Given the description of an element on the screen output the (x, y) to click on. 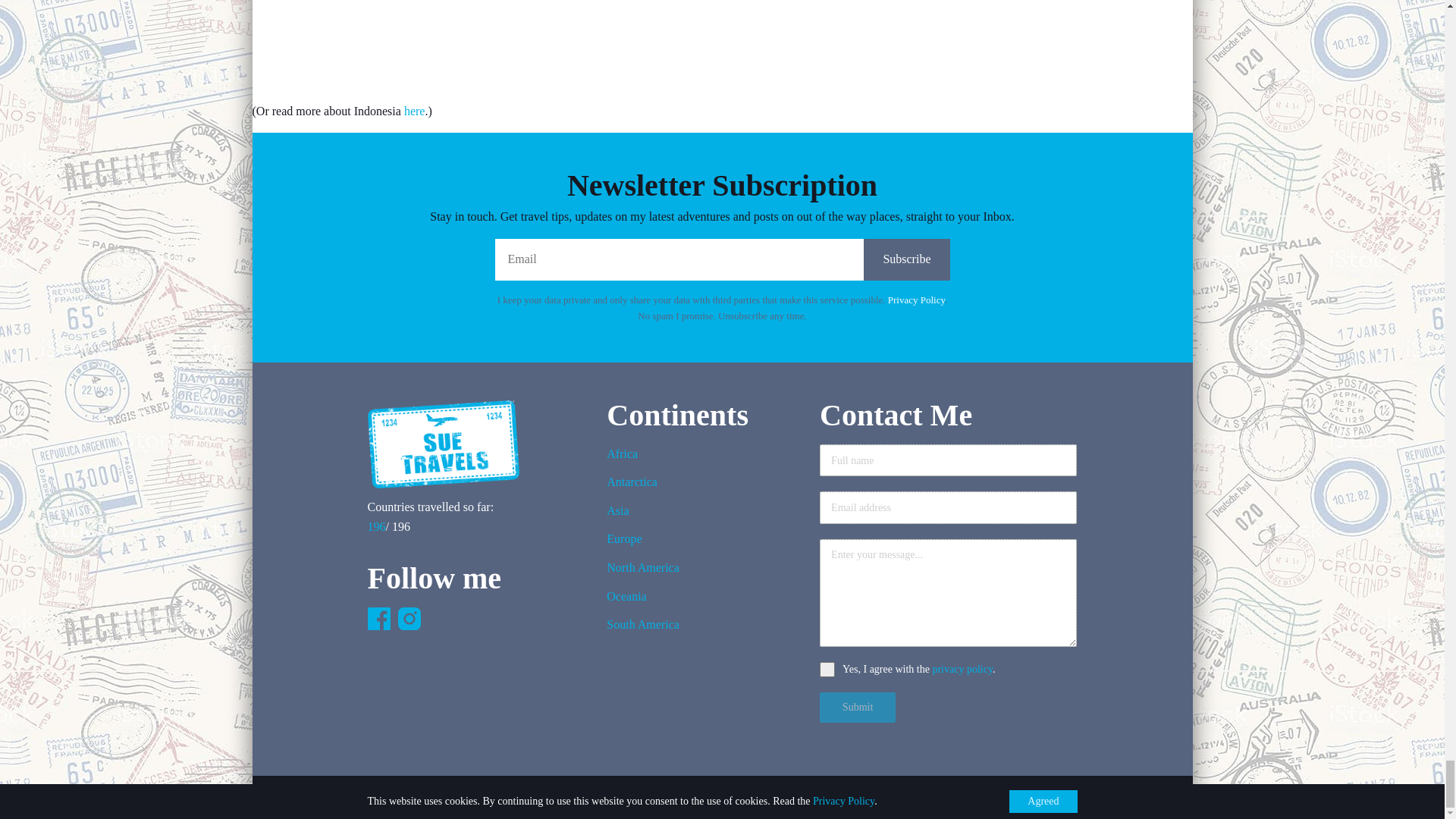
Asia (643, 515)
Submit (857, 707)
here (414, 110)
North America (643, 572)
Antarctica (643, 486)
Subscribe (906, 259)
Subscribe (906, 259)
South America (643, 629)
privacy policy (961, 668)
